Given the description of an element on the screen output the (x, y) to click on. 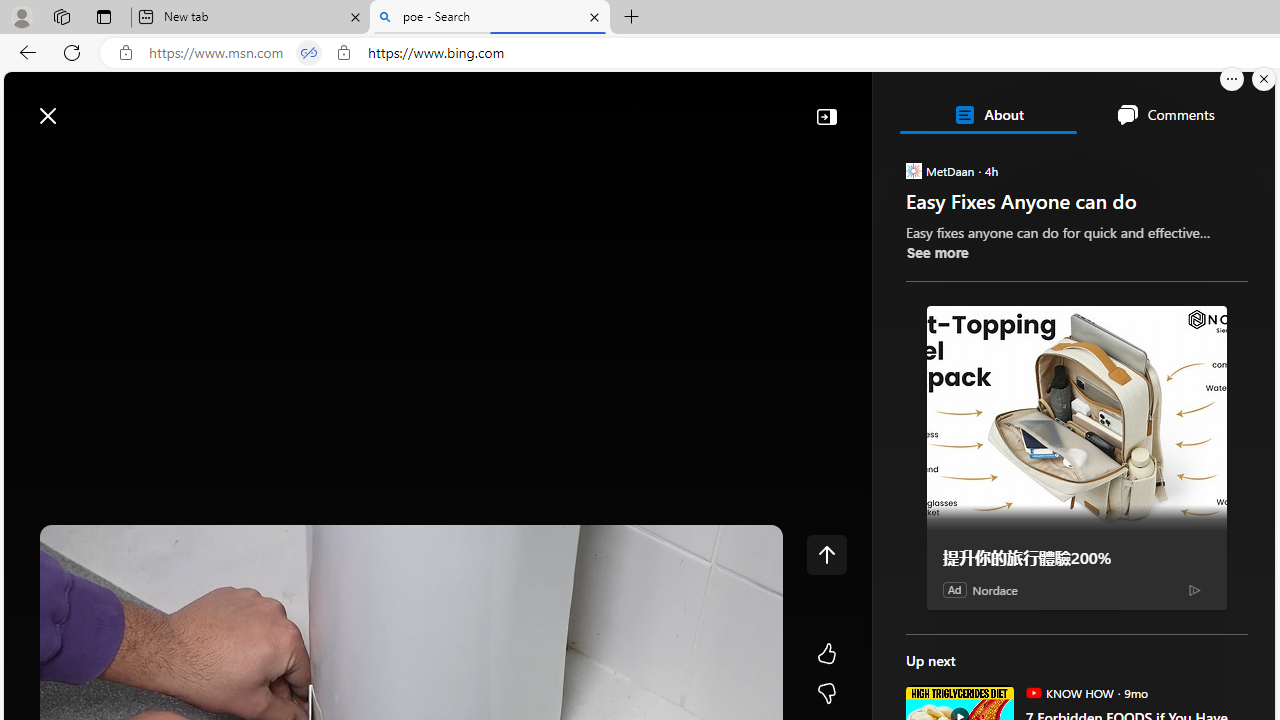
Tabs in split screen (308, 53)
Class: button-glyph (29, 162)
About (987, 114)
KNOW HOW (1033, 692)
